Given the description of an element on the screen output the (x, y) to click on. 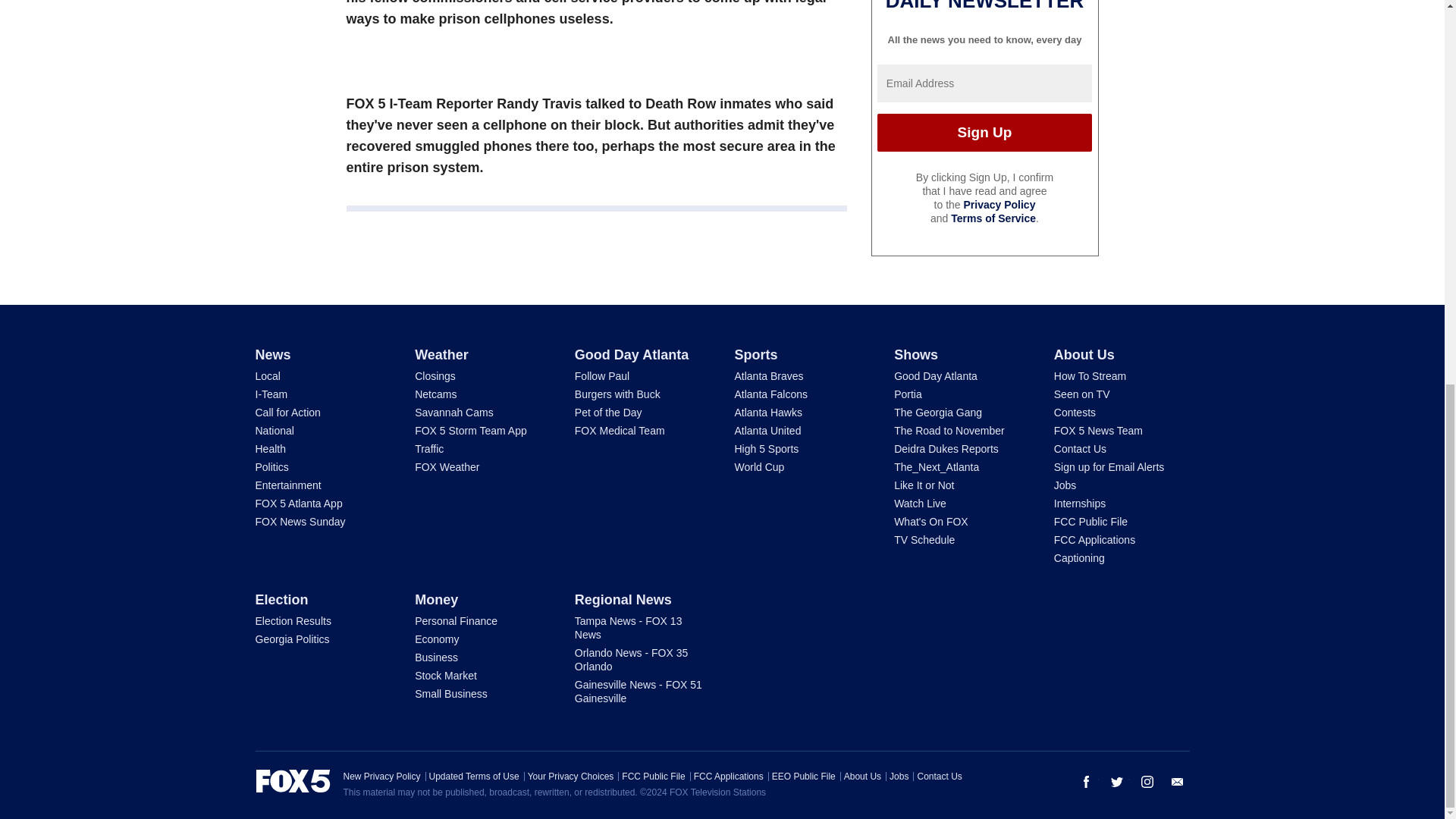
Sign Up (984, 132)
